Given the description of an element on the screen output the (x, y) to click on. 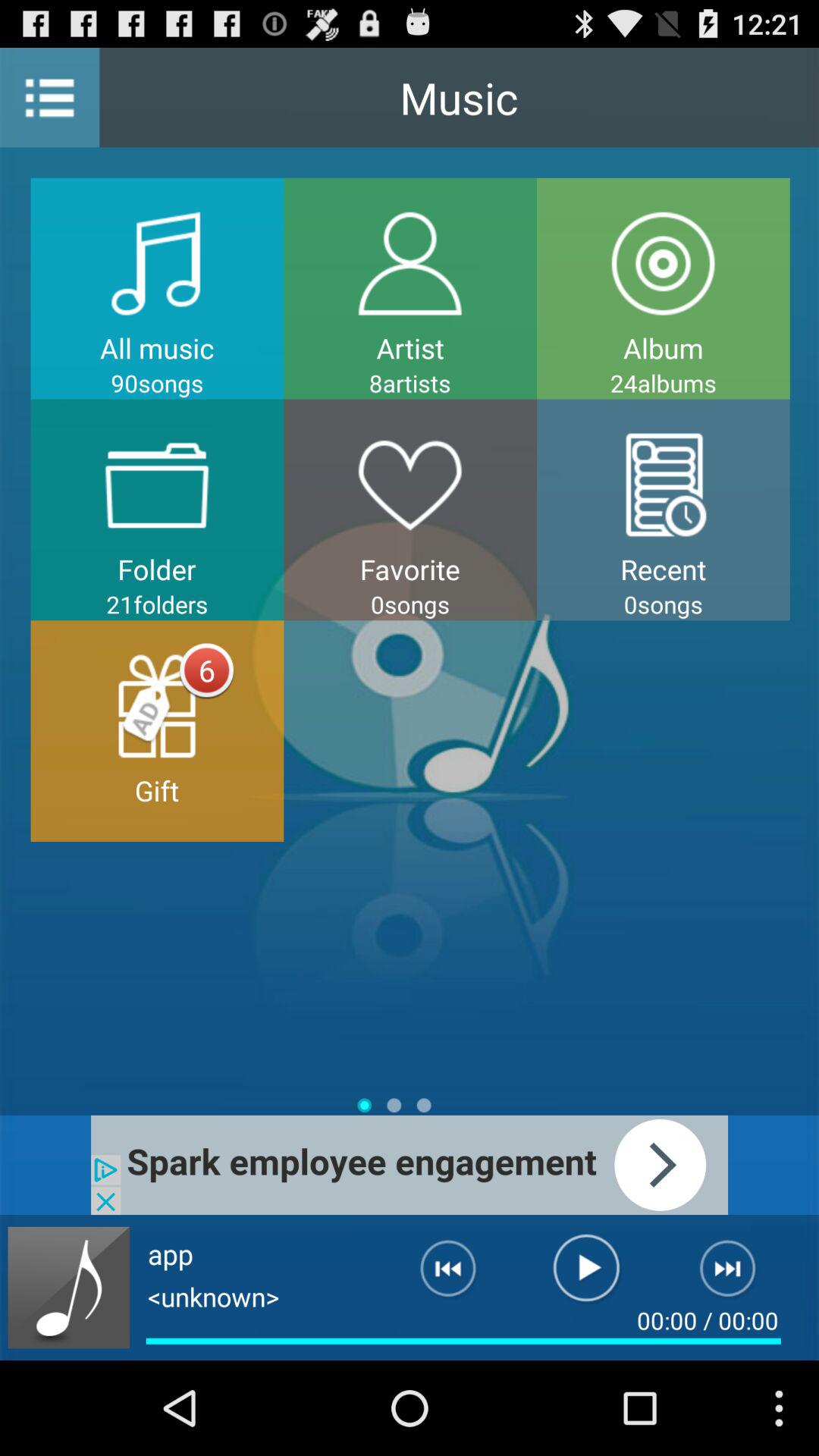
advertisement (409, 1164)
